Given the description of an element on the screen output the (x, y) to click on. 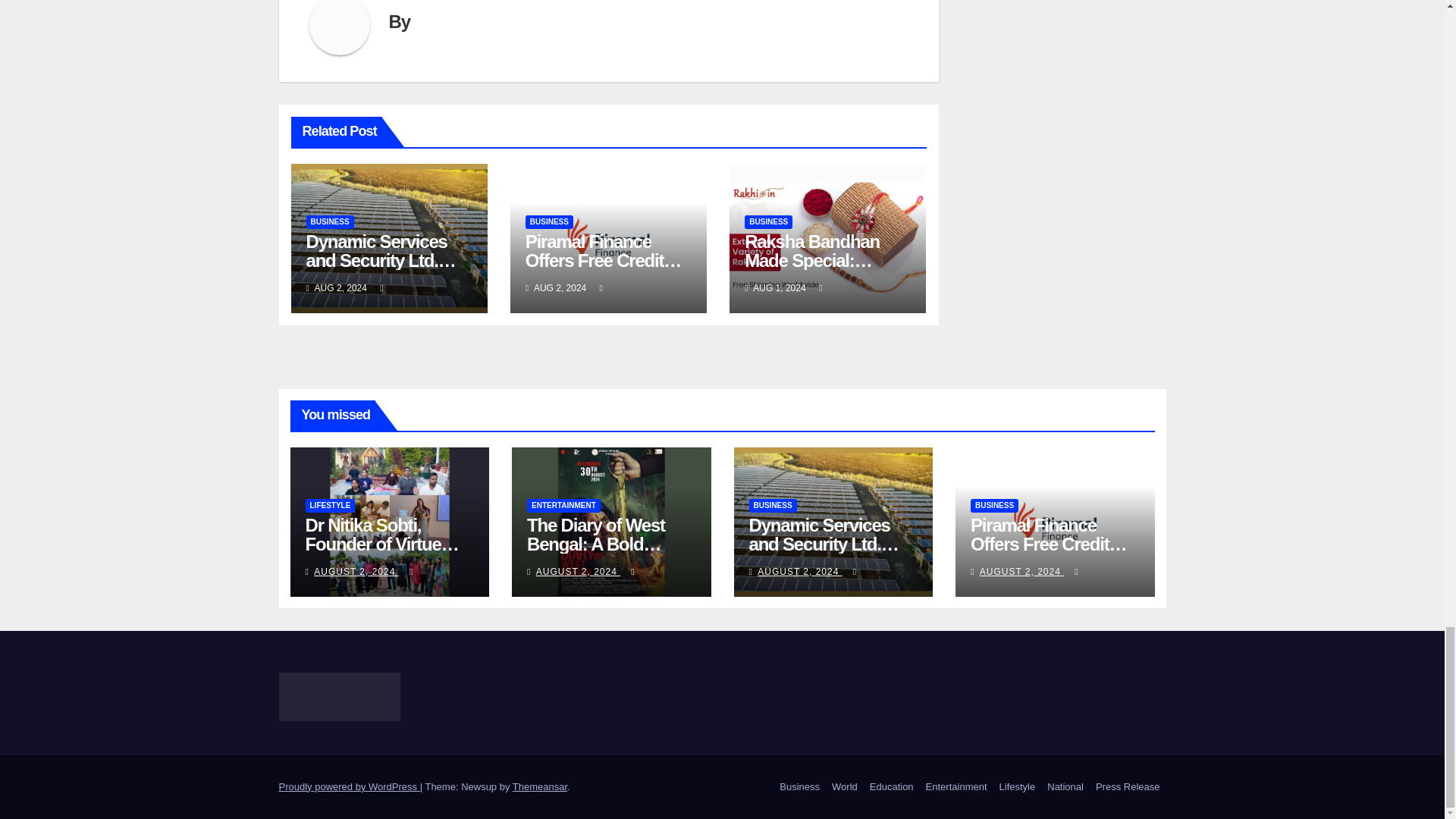
BUSINESS (329, 222)
BUSINESS (549, 222)
